Given the description of an element on the screen output the (x, y) to click on. 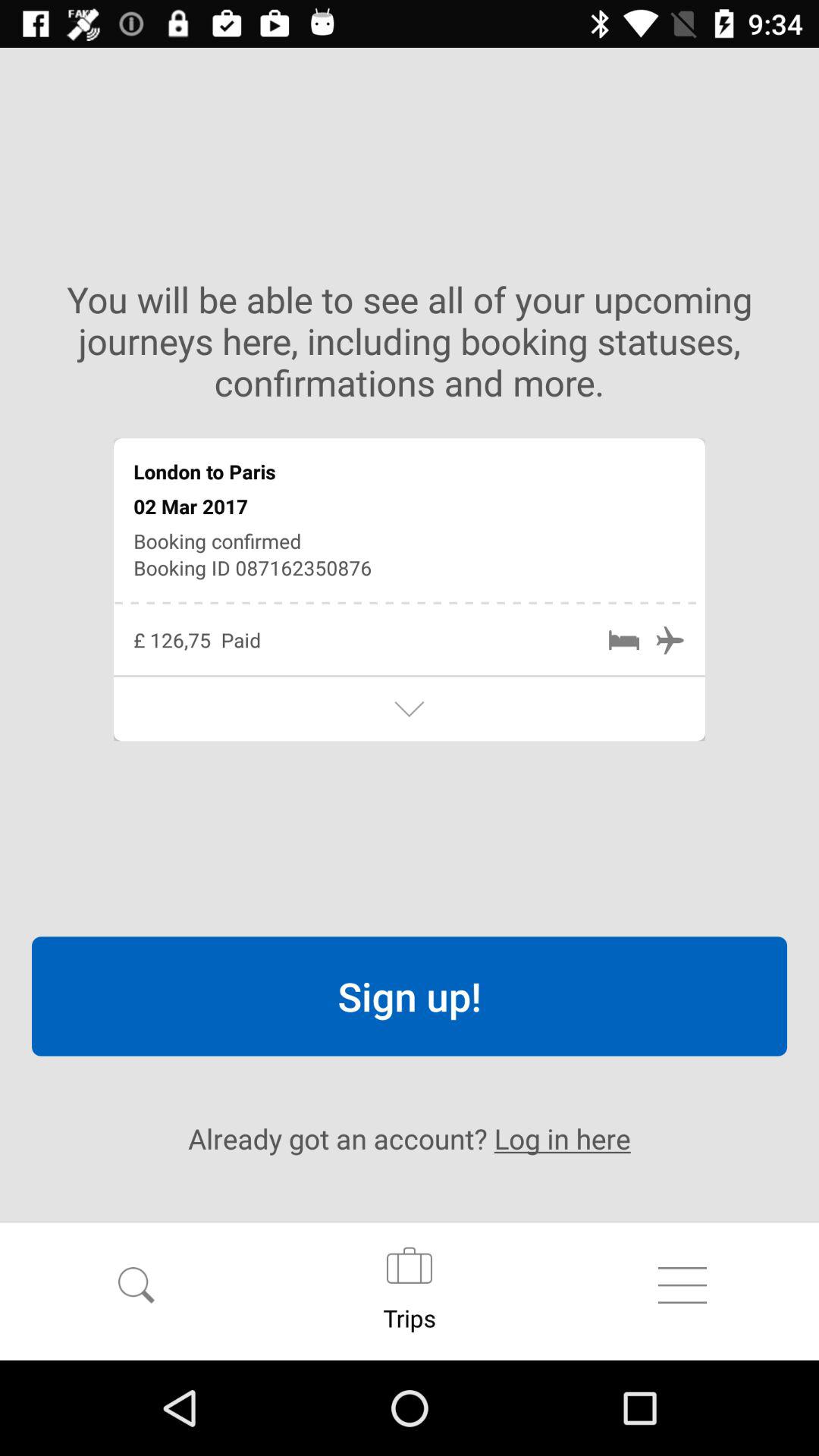
swipe until already got an (409, 1138)
